Given the description of an element on the screen output the (x, y) to click on. 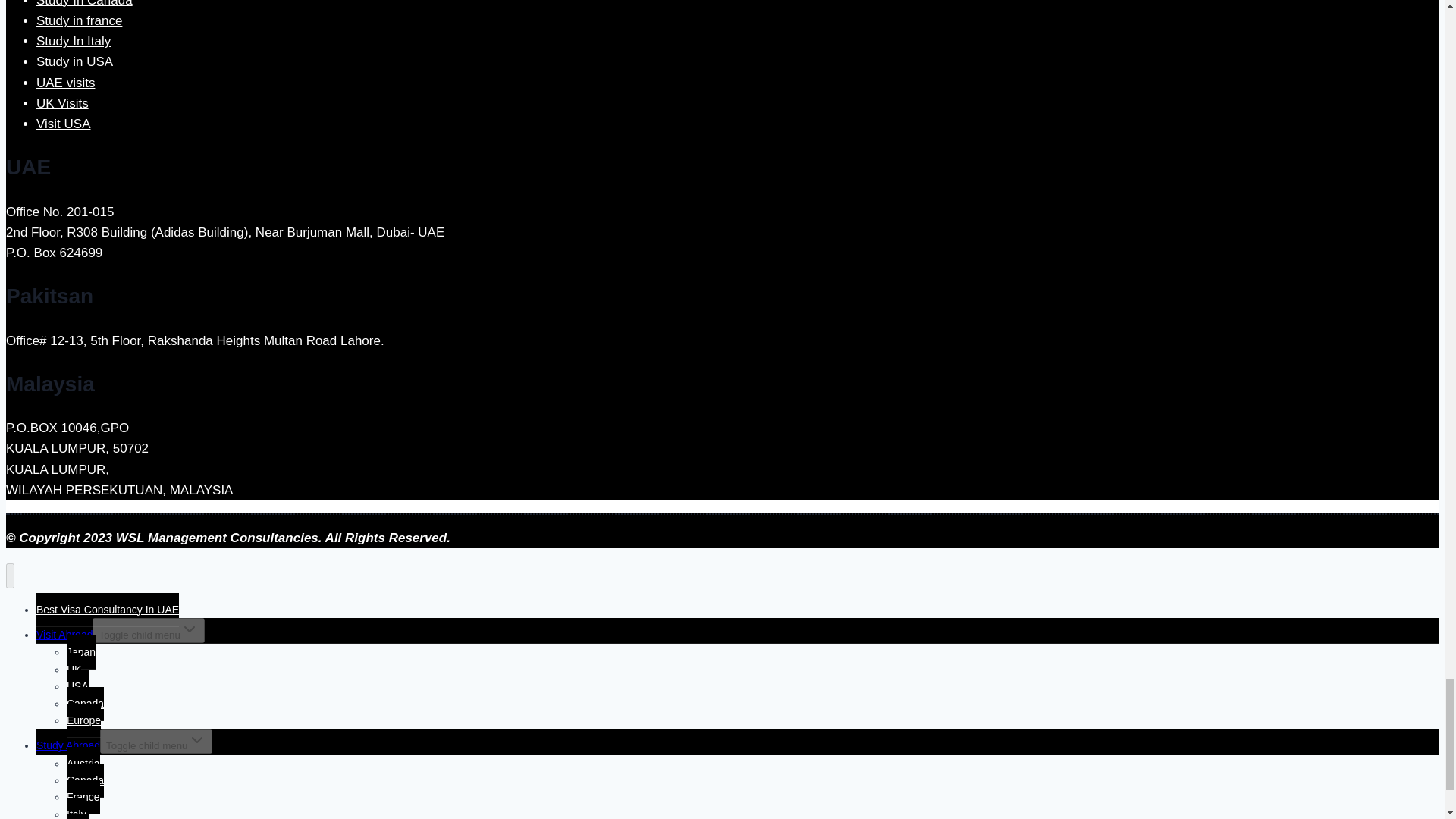
Expand (196, 740)
Expand (189, 628)
